Given the description of an element on the screen output the (x, y) to click on. 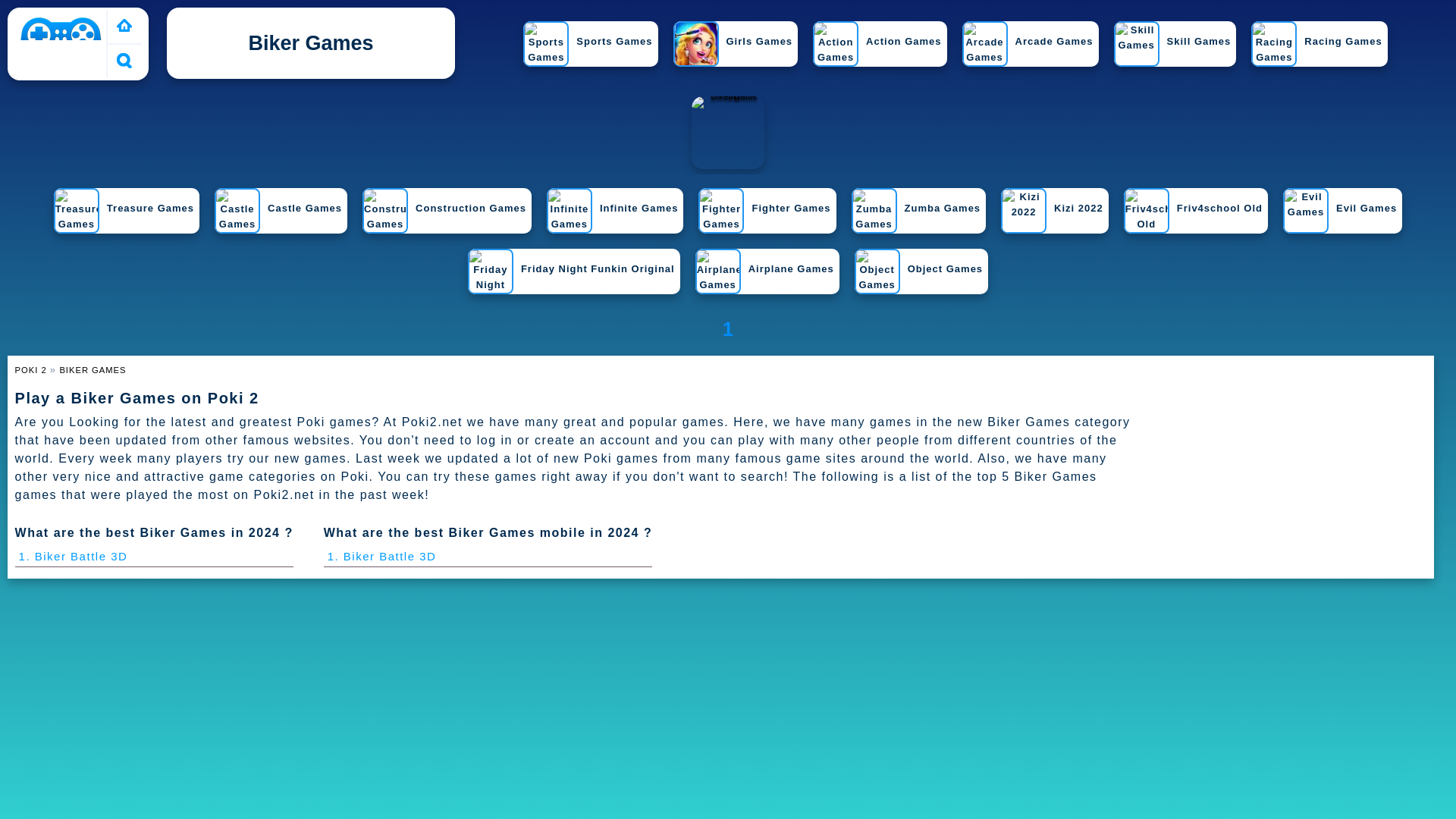
Sports Games (587, 50)
Object Games (918, 277)
1. Biker Battle 3D (73, 555)
Poki Games (124, 26)
1. Biker Battle 3D (381, 555)
Arcade Games (1027, 50)
Racing Games (1315, 50)
Skill Games (1172, 50)
Girls Games (732, 50)
Fighter Games (763, 216)
Racing Games (1315, 50)
1 (727, 329)
Castle Games (278, 216)
Construction Games (443, 216)
Infinite Games (612, 216)
